Given the description of an element on the screen output the (x, y) to click on. 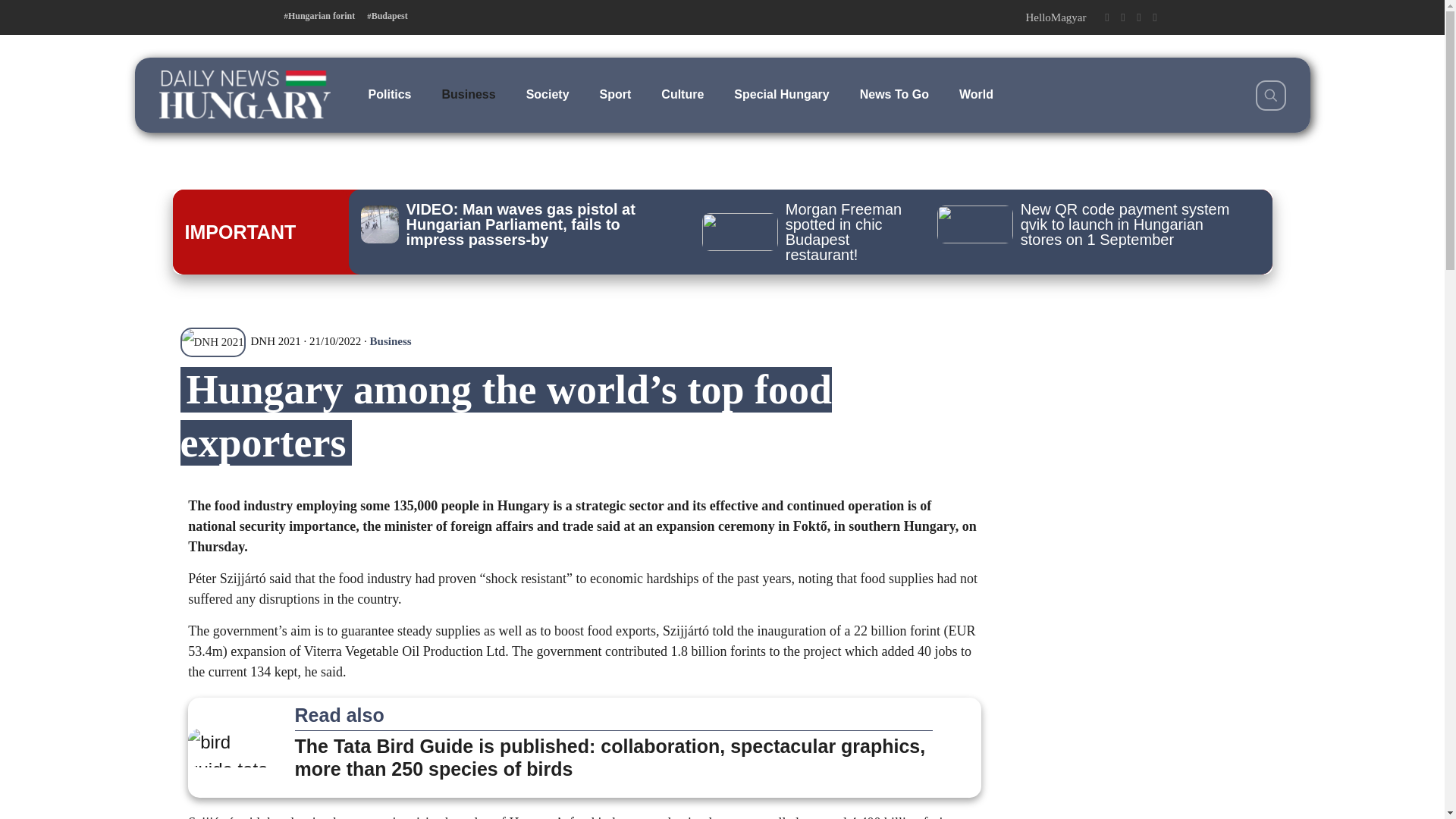
Hungarian forint (319, 15)
HelloMagyar (1055, 17)
Politics (389, 94)
Society (548, 94)
Instagram (1138, 17)
Business (390, 340)
Business (468, 94)
News To Go (893, 94)
